Given the description of an element on the screen output the (x, y) to click on. 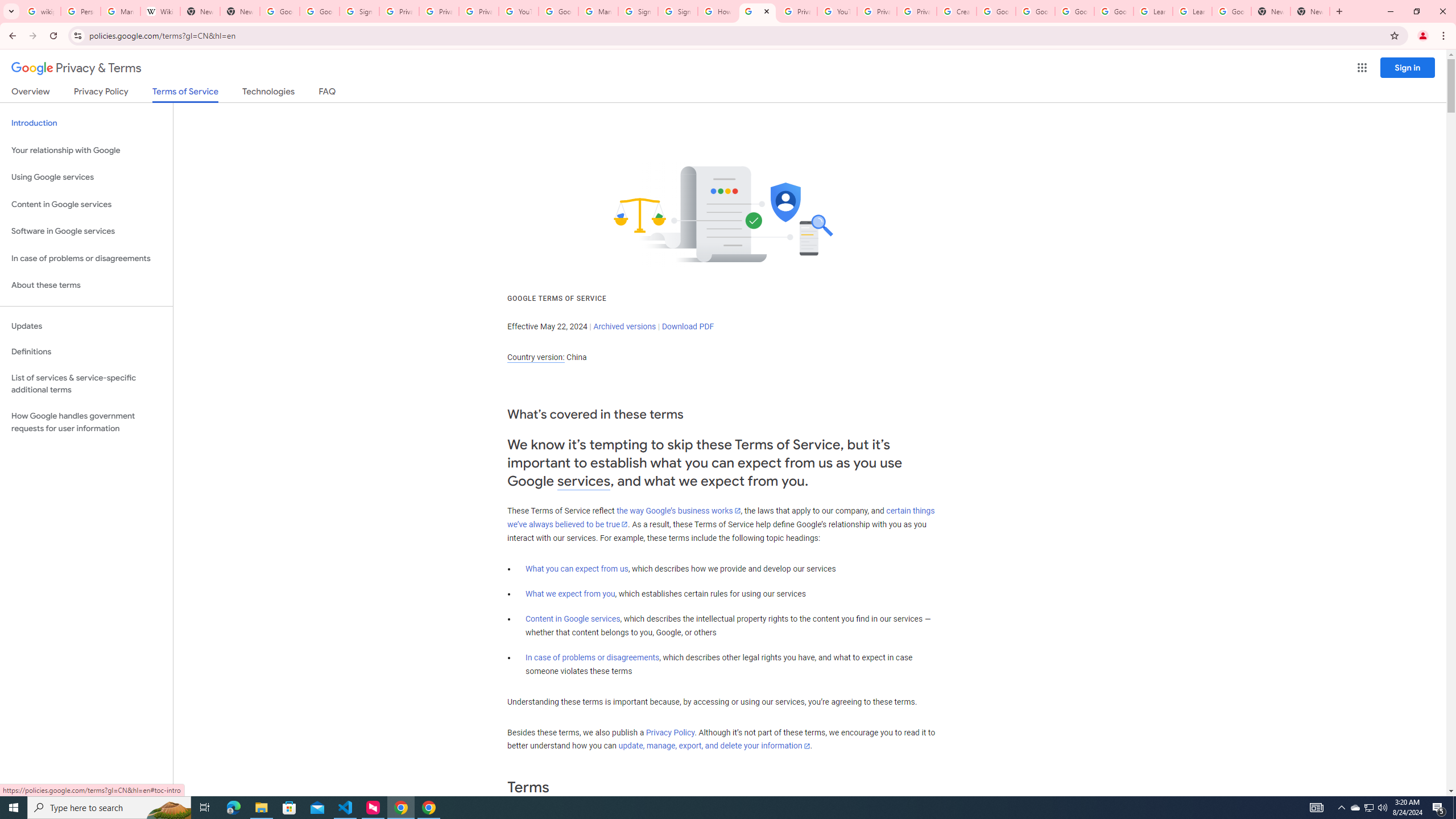
Technologies (268, 93)
Terms of Service (184, 94)
New Tab (1310, 11)
Country version: (535, 357)
Google Drive: Sign-in (319, 11)
Sign in - Google Accounts (359, 11)
In case of problems or disagreements (592, 657)
Archived versions (624, 326)
